Given the description of an element on the screen output the (x, y) to click on. 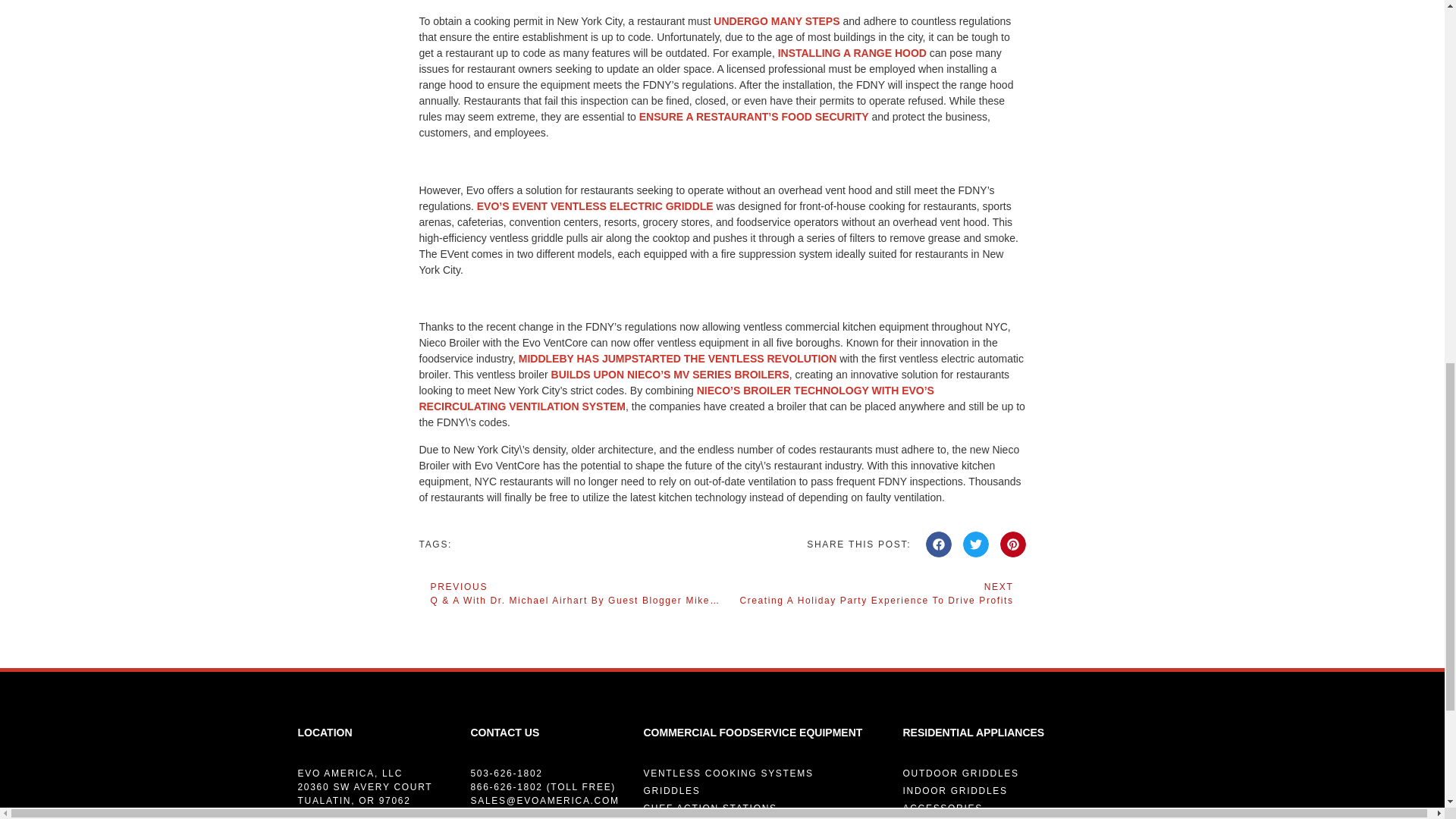
GRIDDLES (764, 790)
MIDDLEBY HAS JUMPSTARTED THE VENTLESS REVOLUTION (677, 358)
INDOOR GRIDDLES (1024, 790)
VENTLESS COOKING SYSTEMS (873, 593)
UNDERGO MANY STEPS (764, 773)
INSTALLING A RANGE HOOD (776, 21)
CHEF ACTION STATIONS (851, 52)
ACCESSORIES (764, 807)
OUTDOOR GRIDDLES (1024, 807)
